Given the description of an element on the screen output the (x, y) to click on. 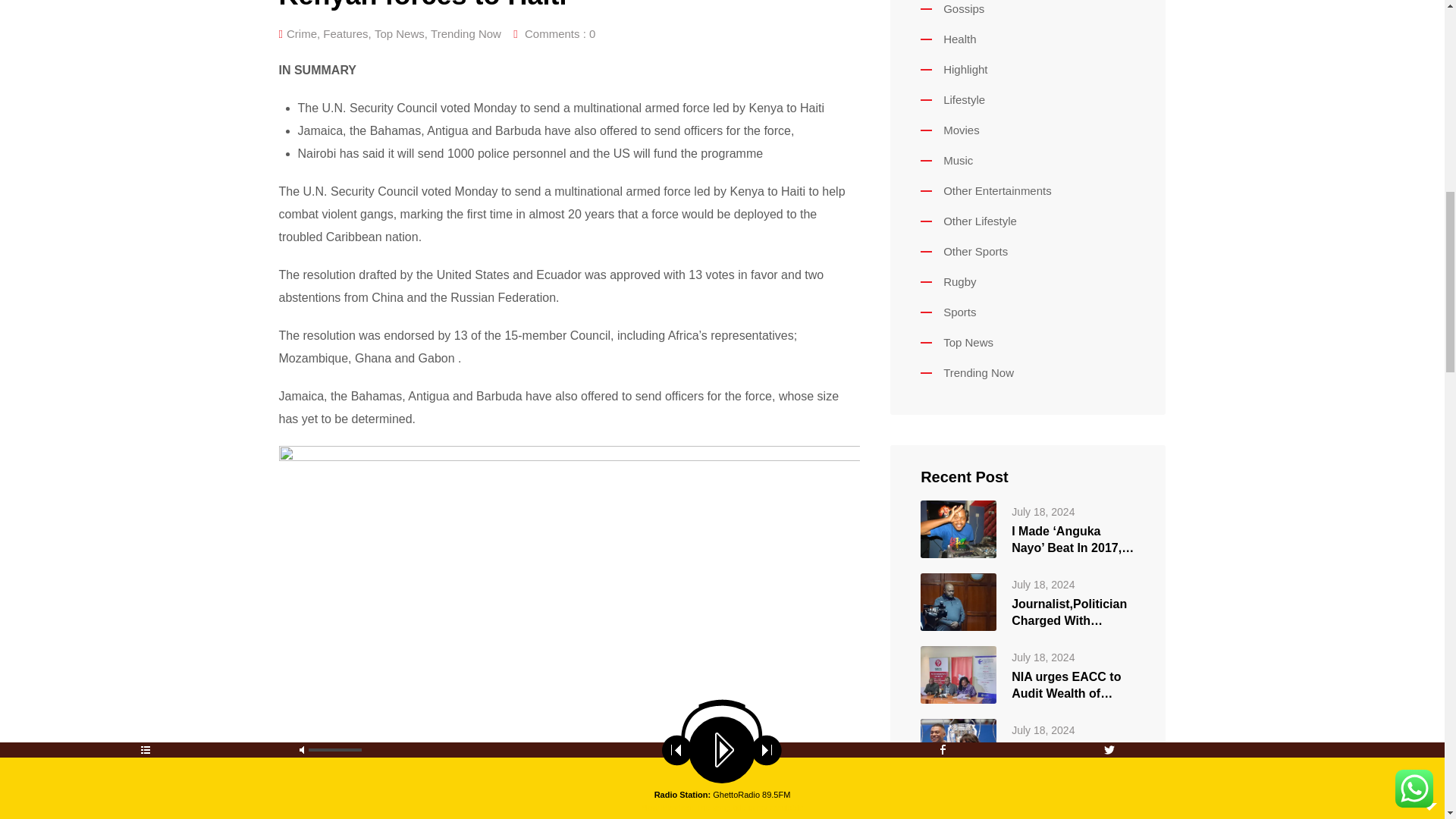
NIA urges EACC to Audit Wealth of Recently Sacked CSs (957, 673)
